Given the description of an element on the screen output the (x, y) to click on. 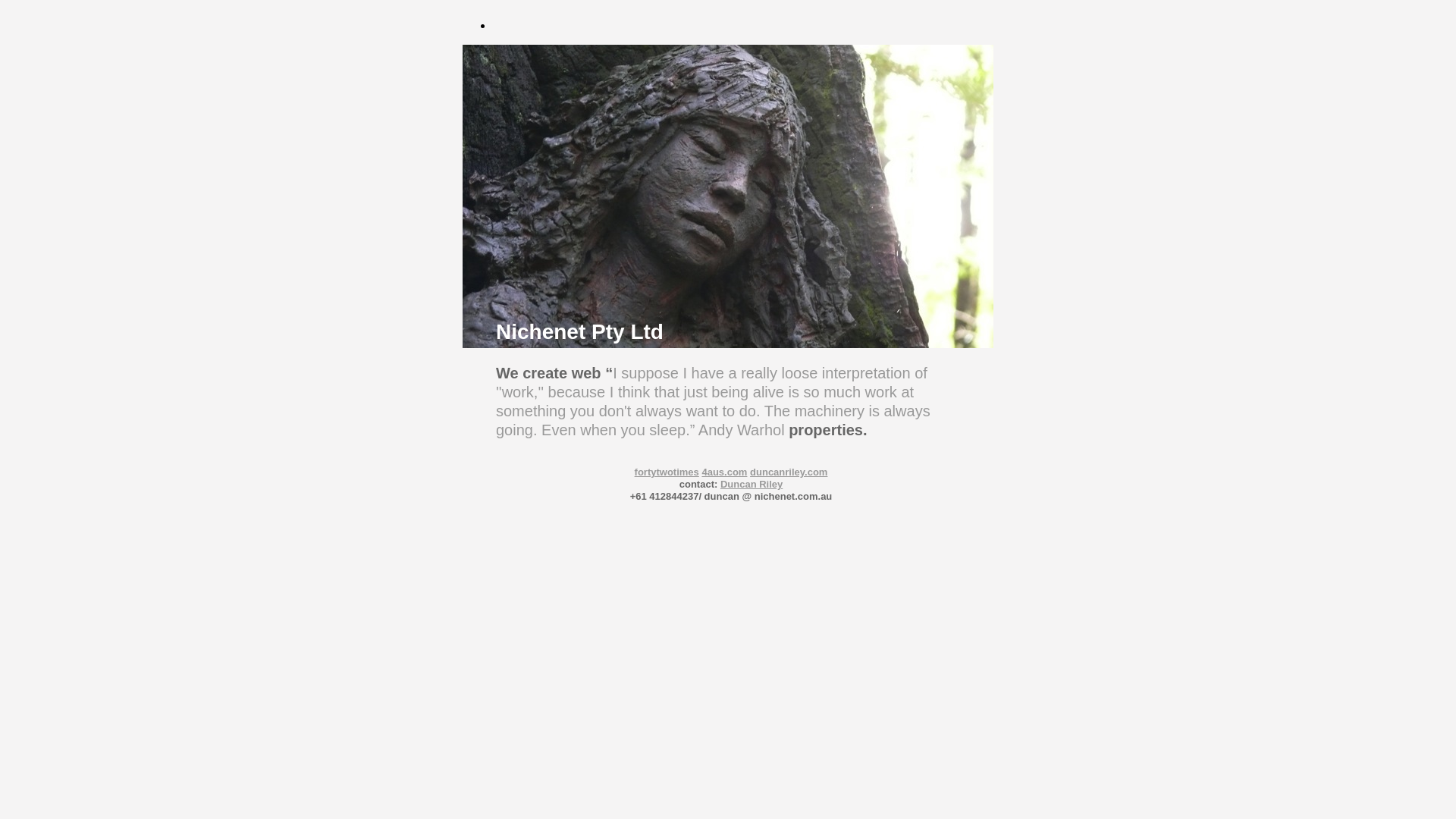
4aus.com Element type: text (723, 471)
fortytwotimes Element type: text (666, 471)
Duncan Riley Element type: text (751, 483)
duncanriley.com Element type: text (788, 471)
